Given the description of an element on the screen output the (x, y) to click on. 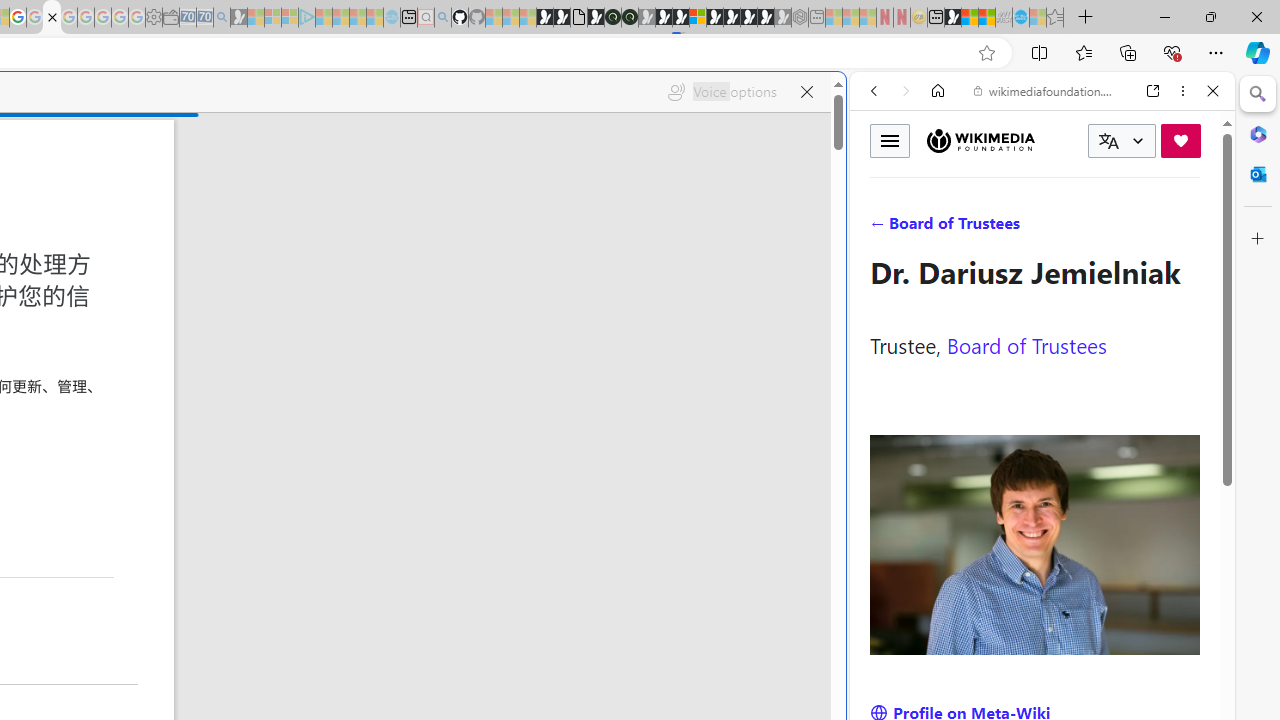
Play Cave FRVR in your browser | Games from Microsoft Start (343, 426)
WEB   (882, 228)
Earth has six continents not seven, radical new study claims (986, 17)
CURRENT LANGUAGE: (1121, 141)
